Given the description of an element on the screen output the (x, y) to click on. 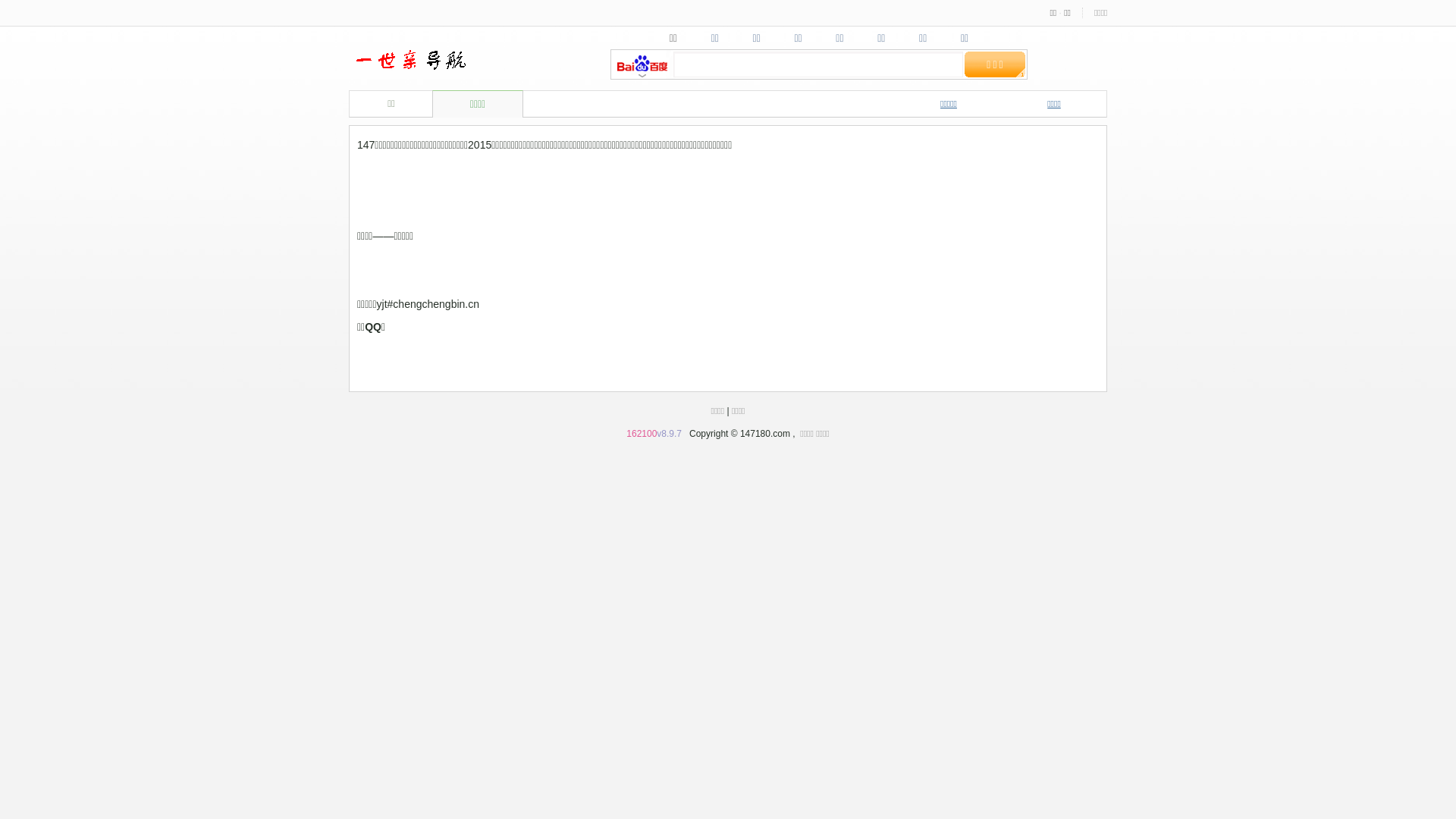
162100 Element type: text (641, 433)
